Given the description of an element on the screen output the (x, y) to click on. 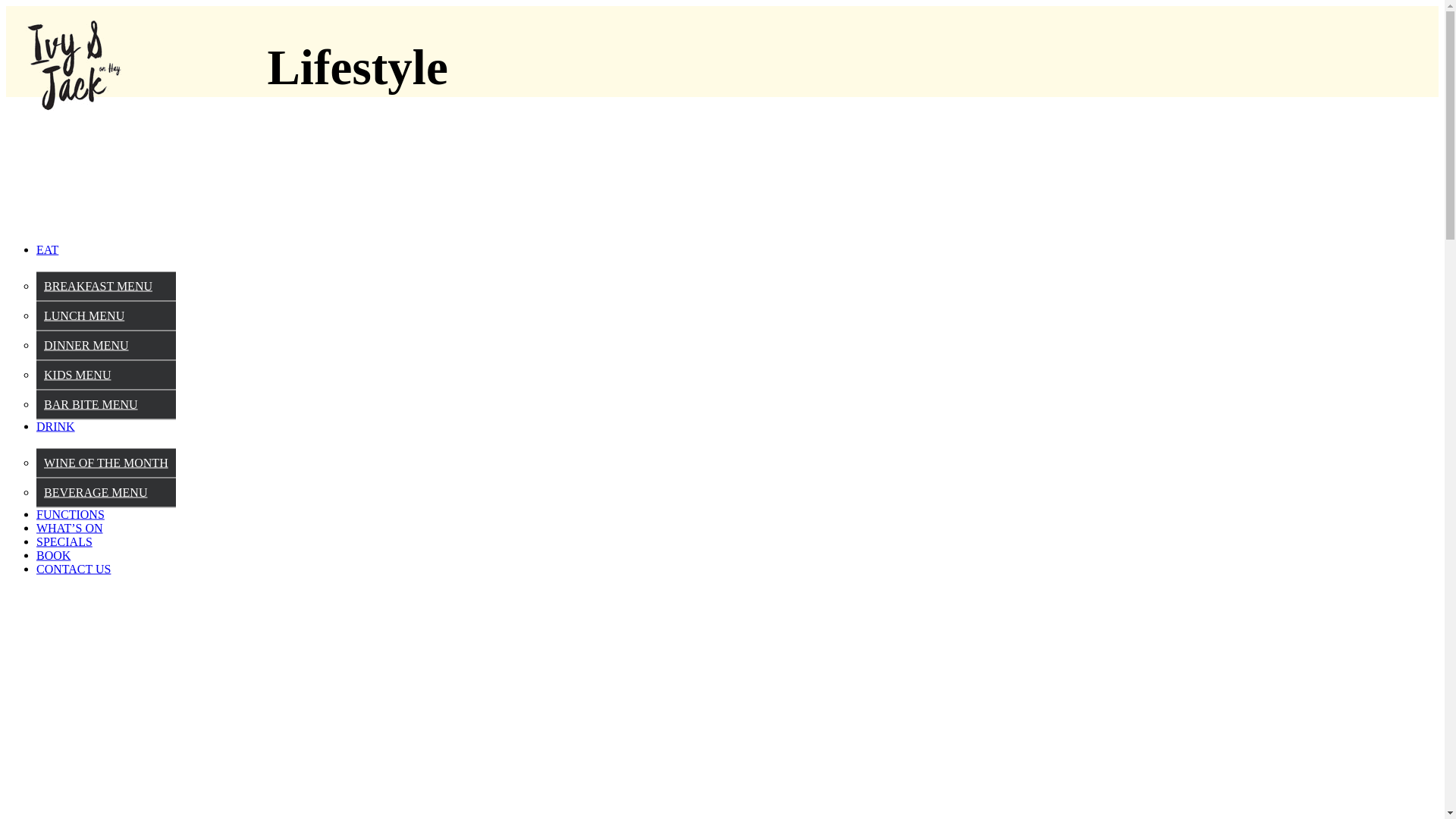
CONTACT US Element type: text (73, 568)
BAR BITE MENU Element type: text (90, 403)
BREAKFAST MENU Element type: text (97, 285)
KIDS MENU Element type: text (76, 374)
FUNCTIONS Element type: text (70, 514)
BEVERAGE MENU Element type: text (95, 491)
BOOK Element type: text (53, 555)
WINE OF THE MONTH Element type: text (105, 462)
DINNER MENU Element type: text (85, 344)
EAT Element type: text (47, 248)
SPECIALS Element type: text (64, 541)
LUNCH MENU Element type: text (83, 315)
DRINK Element type: text (55, 426)
